Given the description of an element on the screen output the (x, y) to click on. 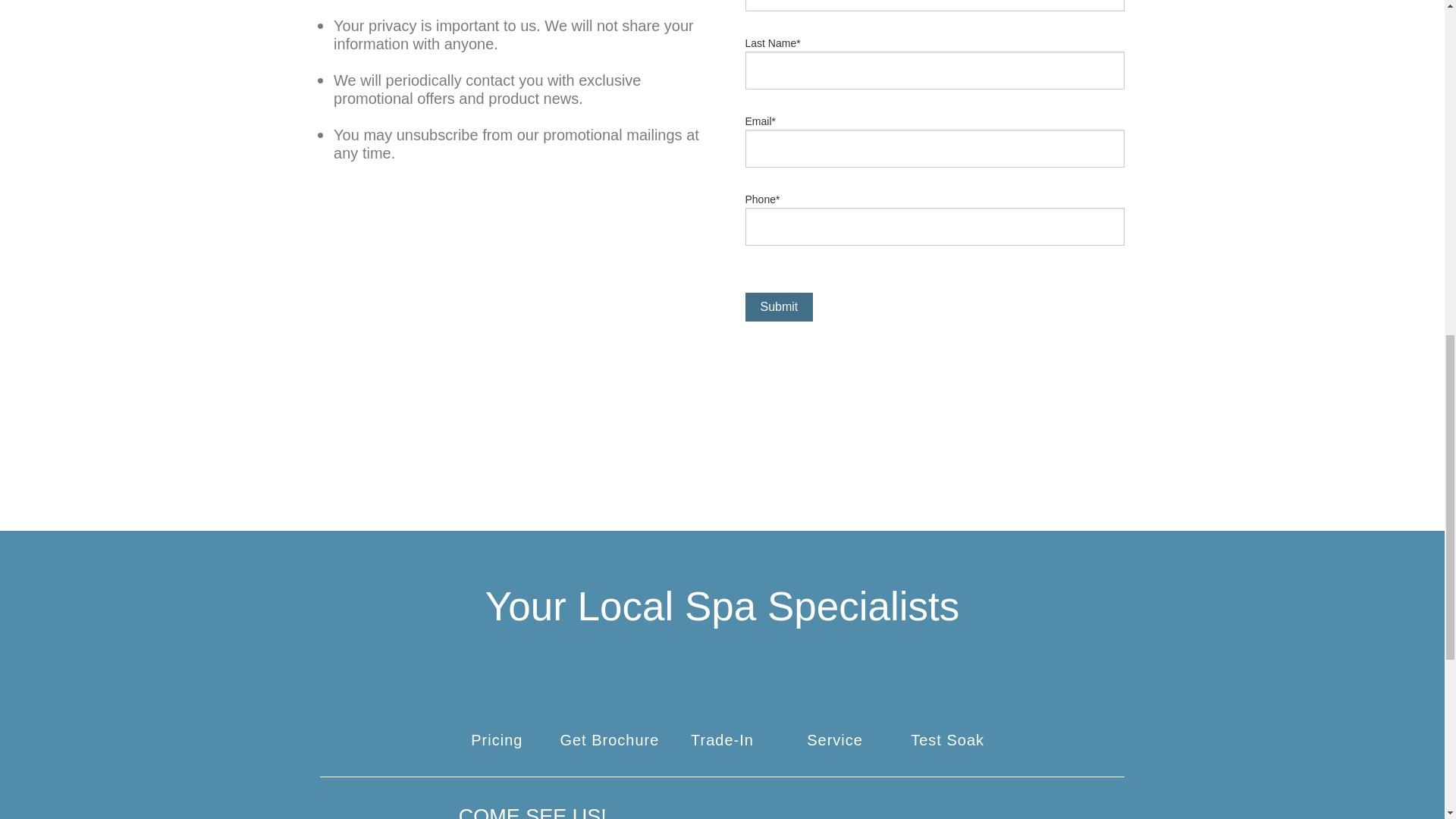
icon-Test-Soak (947, 713)
Submit (778, 306)
icon-Brochure (609, 713)
